Given the description of an element on the screen output the (x, y) to click on. 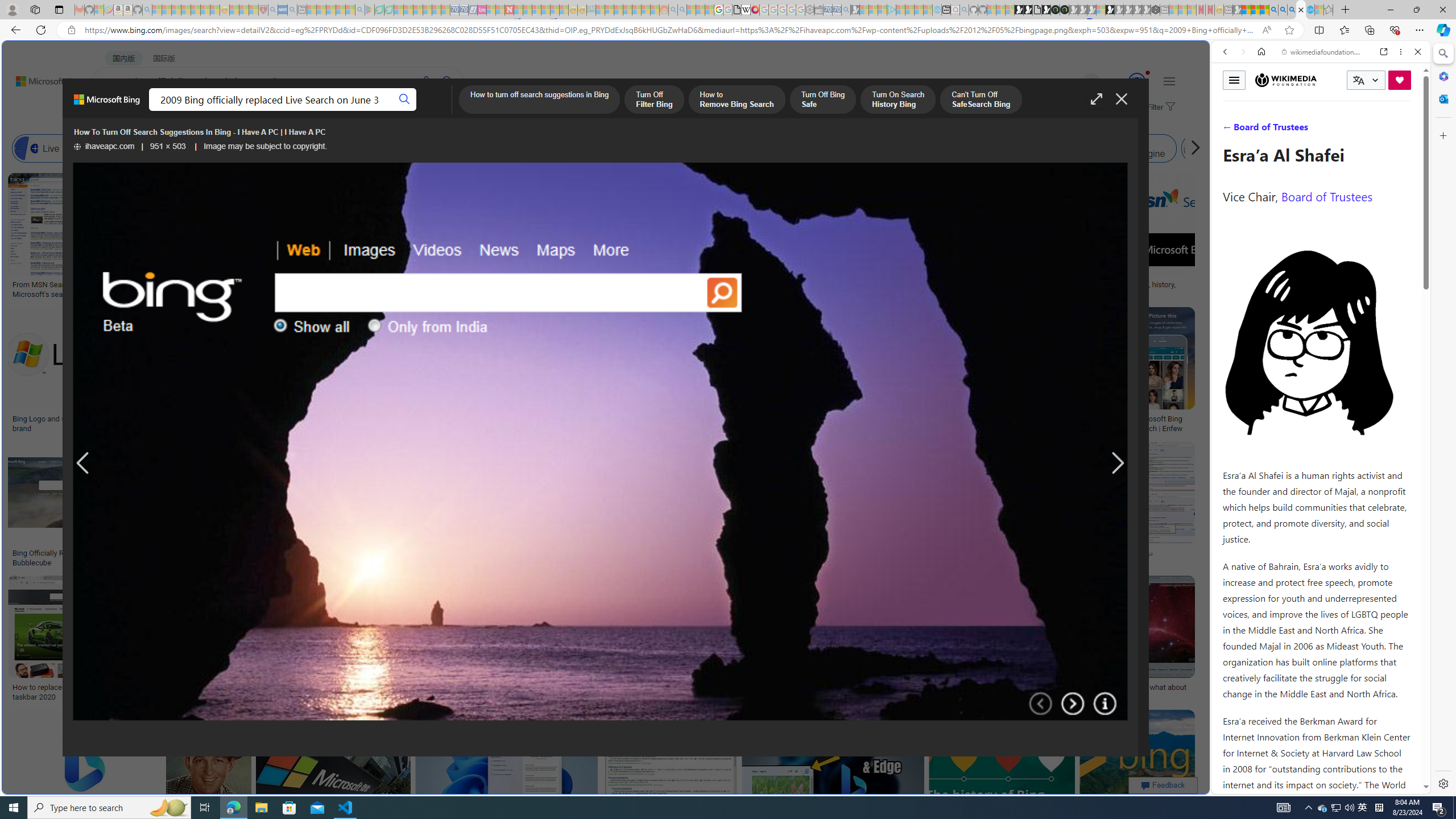
github - Search - Sleeping (964, 9)
DICT (407, 111)
Scroll right (1192, 148)
Microsoft Bing Search | Enfew (1162, 423)
How to replace Bing in Windows 10 search on the taskbar 2020 (93, 691)
Home | Sky Blue Bikes - Sky Blue Bikes - Sleeping (936, 9)
Wikimedia Foundation (1285, 79)
Technology History timeline | Timetoast timelinesSave (835, 237)
Trusted Community Engagement and Contributions | Guidelines (518, 9)
